Given the description of an element on the screen output the (x, y) to click on. 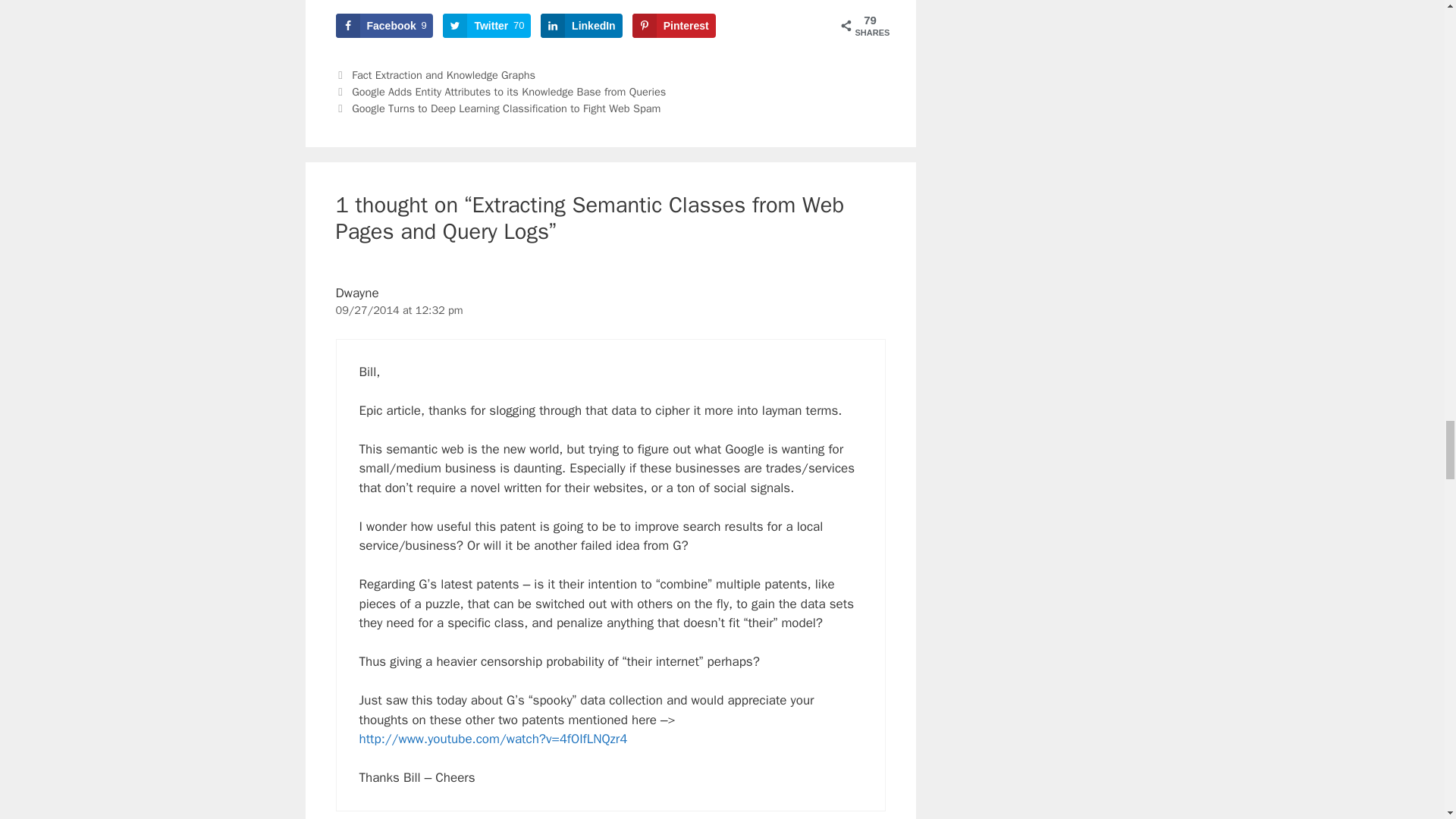
Share on Facebook (383, 25)
Share on LinkedIn (581, 25)
Save to Pinterest (673, 25)
Share on Twitter (486, 25)
